Given the description of an element on the screen output the (x, y) to click on. 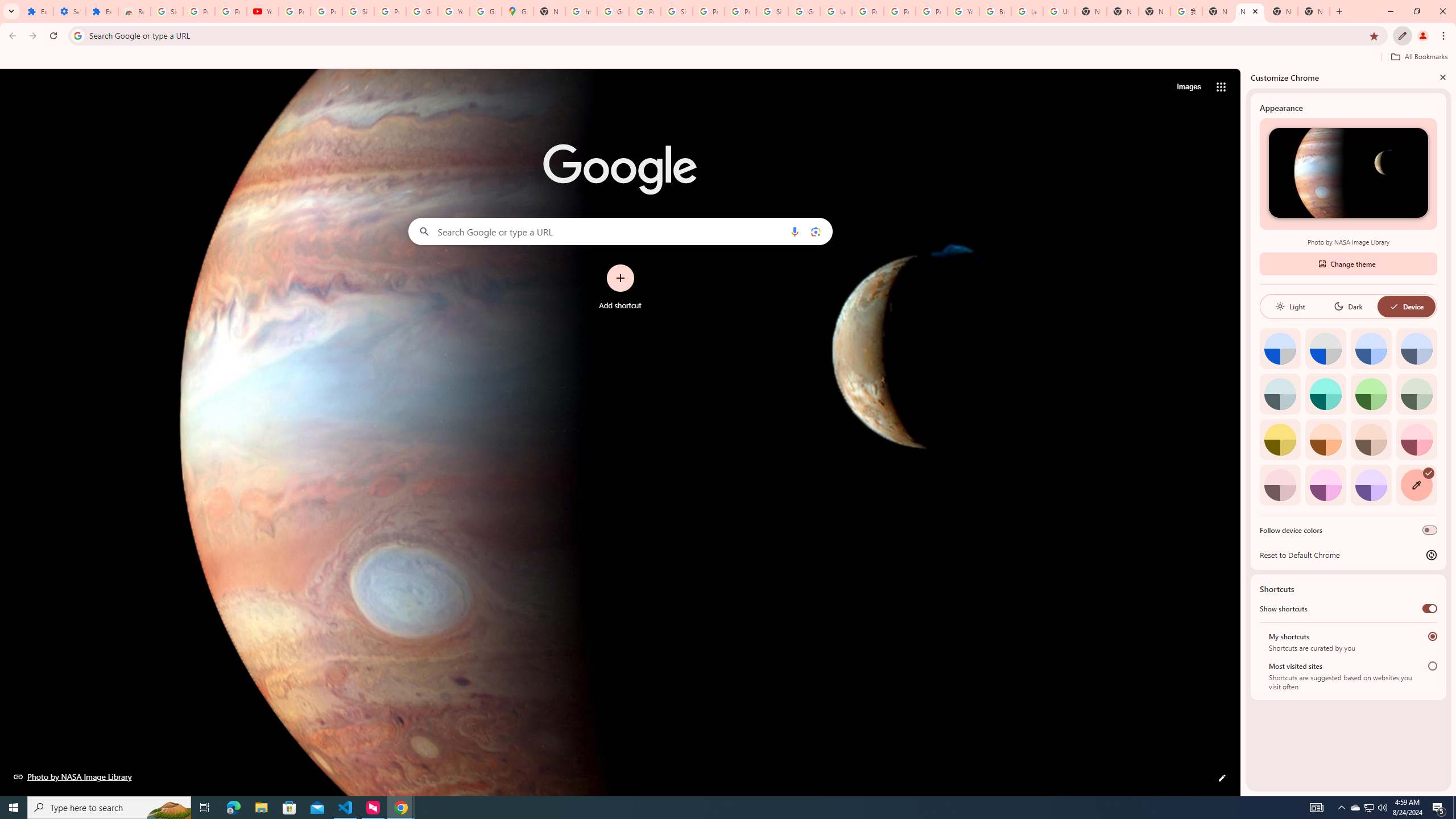
Most visited sites (1432, 665)
New Tab (1123, 11)
Sign in - Google Accounts (358, 11)
Violet (1371, 484)
New Tab (1313, 11)
Customize this page (1221, 778)
Google Maps (517, 11)
Extensions (101, 11)
Custom color (1416, 484)
